Given the description of an element on the screen output the (x, y) to click on. 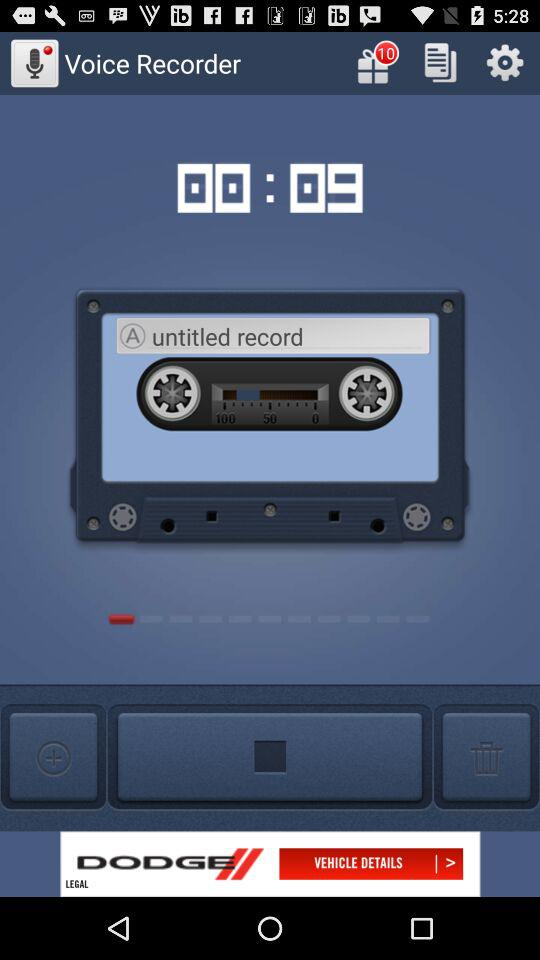
settings options (504, 62)
